Given the description of an element on the screen output the (x, y) to click on. 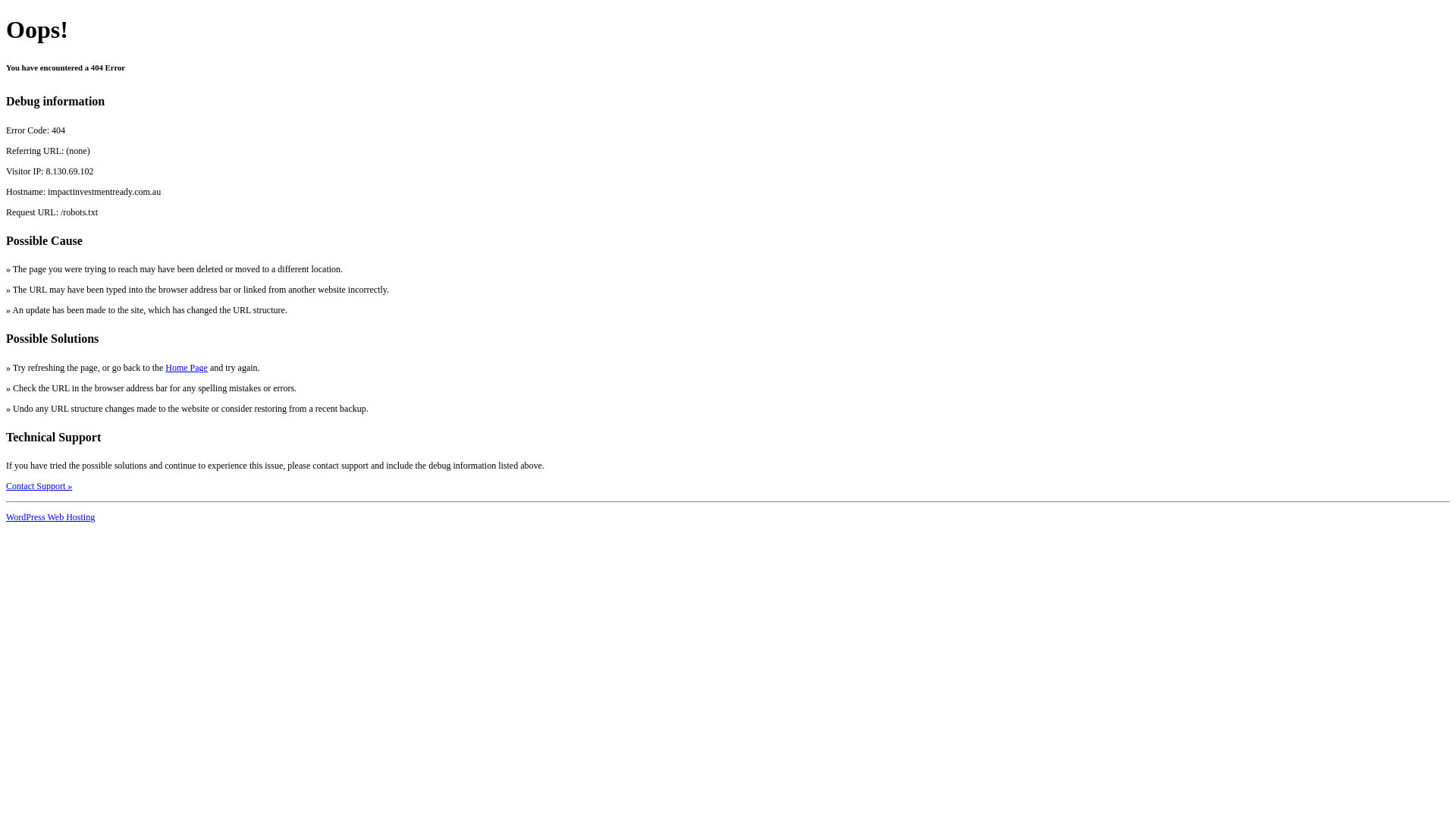
WordPress Web Hosting Element type: text (50, 516)
Home Page Element type: text (186, 367)
